Given the description of an element on the screen output the (x, y) to click on. 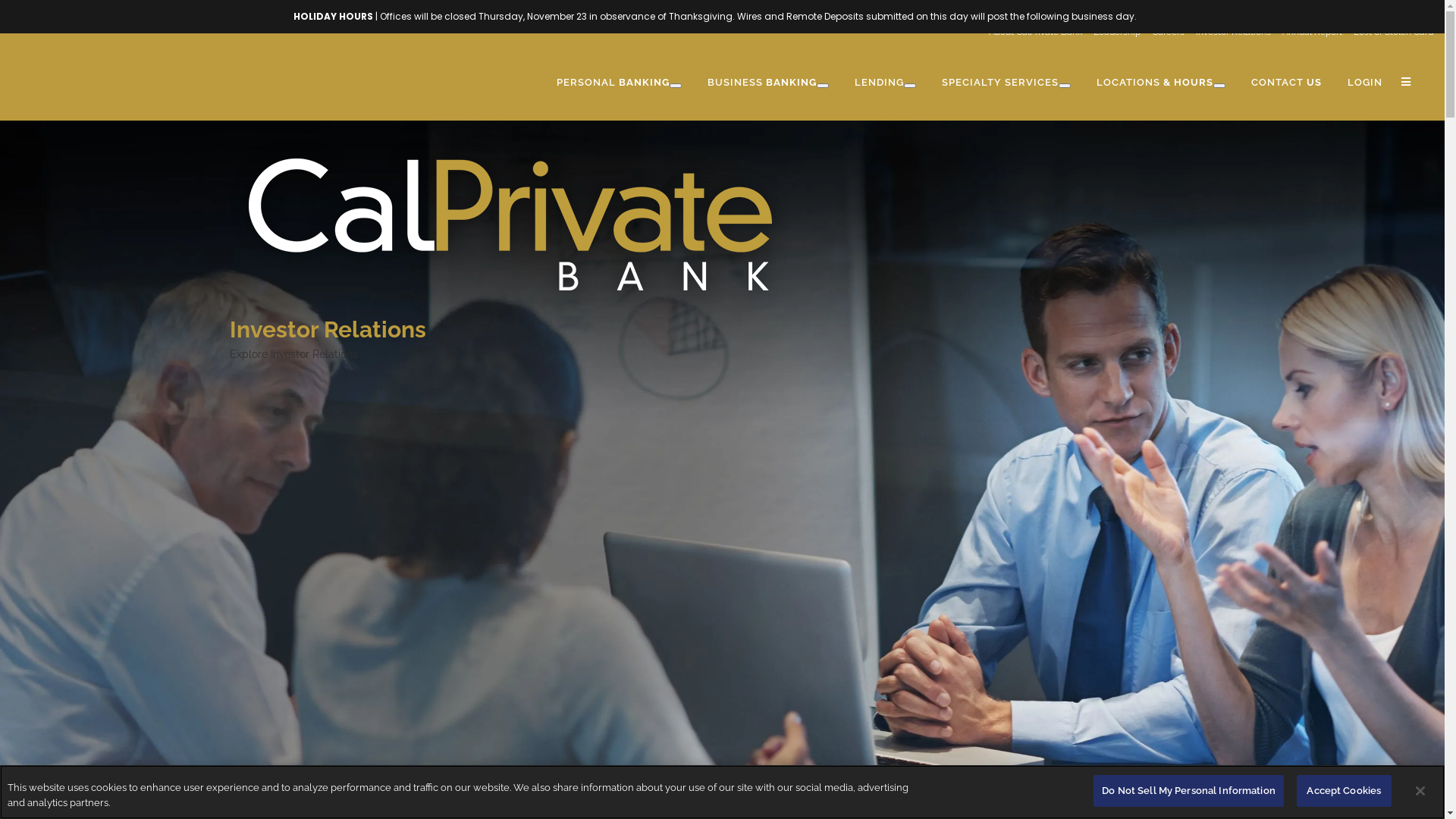
SPECIALTY SERVICES Element type: text (1005, 82)
Explore Investor Relations Element type: text (293, 353)
LENDING Element type: text (884, 82)
CONTACT US Element type: text (1286, 82)
Investor Relations Element type: text (1227, 31)
About CalPrivate Bank Element type: text (1029, 31)
Careers Element type: text (1162, 31)
BUSINESS BANKING Element type: text (767, 82)
LOCATIONS & HOURS Element type: text (1160, 82)
Skip to main content Element type: text (51, 9)
Lost or Stolen Card Element type: text (1387, 31)
PERSONAL BANKING Element type: text (618, 82)
Do Not Sell My Personal Information Element type: text (1188, 790)
Annual Report Element type: text (1306, 31)
Accept Cookies Element type: text (1343, 790)
LOGIN Element type: text (1364, 82)
Leadership Element type: text (1111, 31)
